Given the description of an element on the screen output the (x, y) to click on. 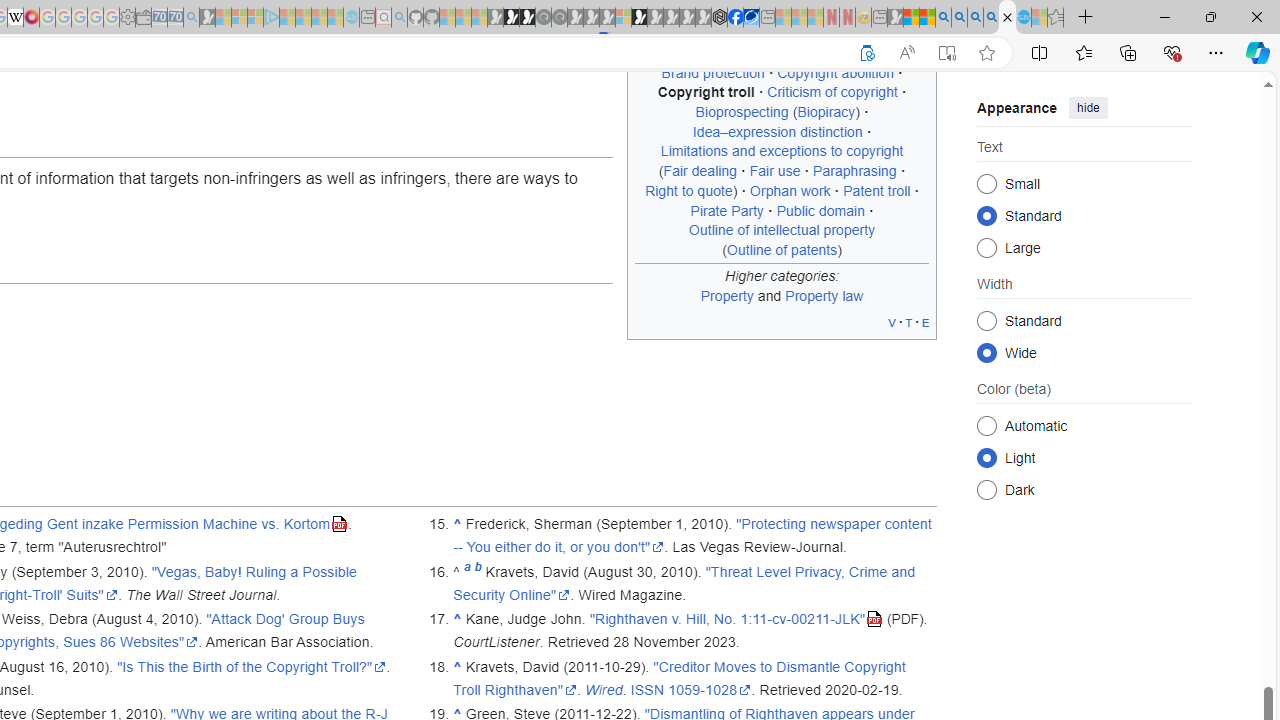
"Creditor Moves to Dismantle Copyright Troll Righthaven" (679, 677)
Wide (986, 352)
Brand protection (712, 72)
Outline of patents (781, 249)
